Given the description of an element on the screen output the (x, y) to click on. 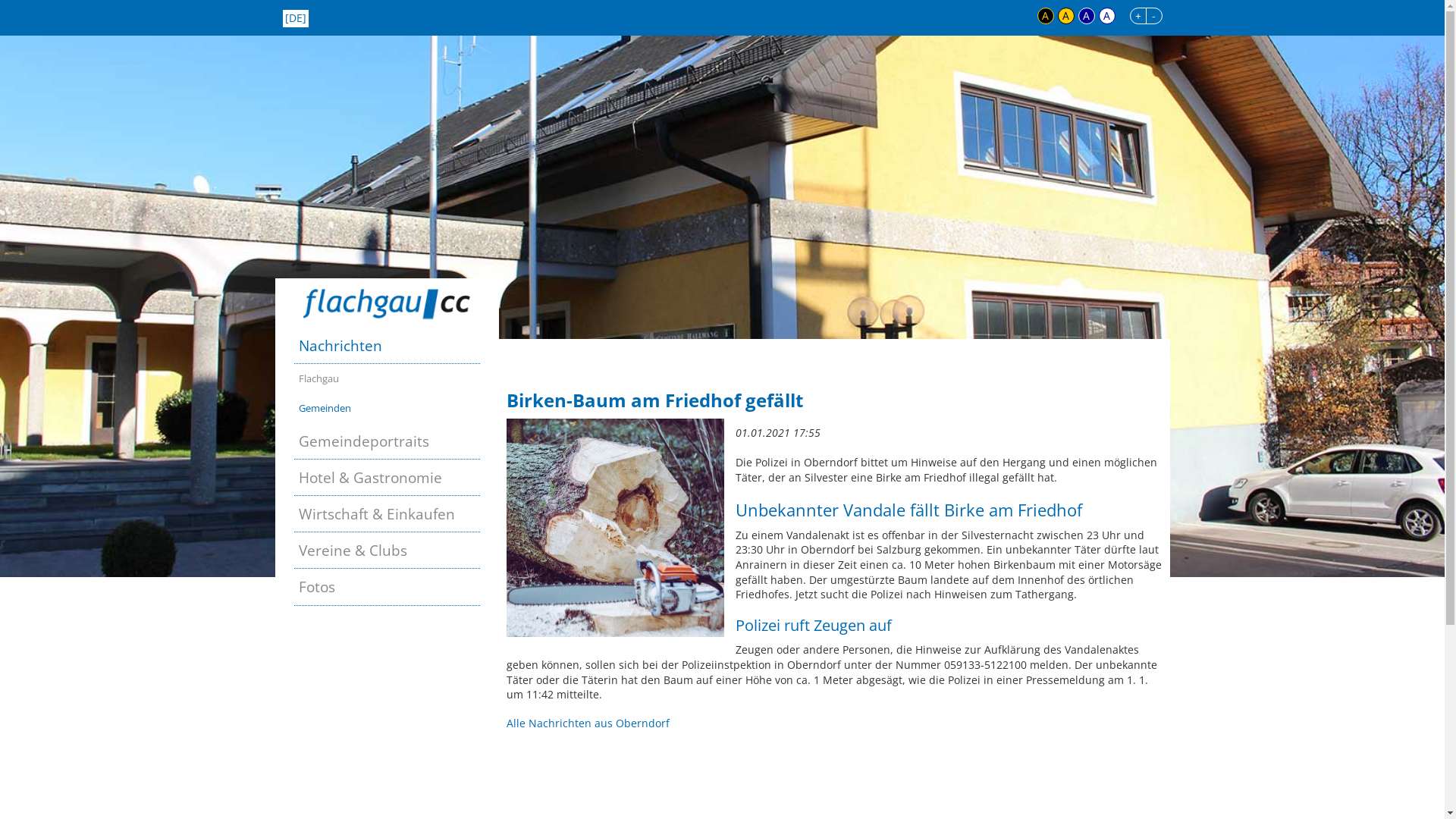
Alle Nachrichten aus Oberndorf Element type: text (587, 722)
Gemeindeportraits Element type: text (387, 441)
Nachrichten Element type: text (387, 345)
A Element type: text (1106, 15)
A Element type: text (1045, 15)
Wirtschaft & Einkaufen Element type: text (387, 513)
Vereine & Clubs Element type: text (387, 550)
Hotel & Gastronomie Element type: text (387, 477)
Gemeinden Element type: text (387, 408)
+ Element type: text (1137, 15)
Fotos Element type: text (387, 586)
A Element type: text (1065, 15)
Zur Startseite Element type: hover (386, 302)
- Element type: text (1153, 15)
A Element type: text (1086, 15)
Flachgau Element type: text (387, 378)
